Given the description of an element on the screen output the (x, y) to click on. 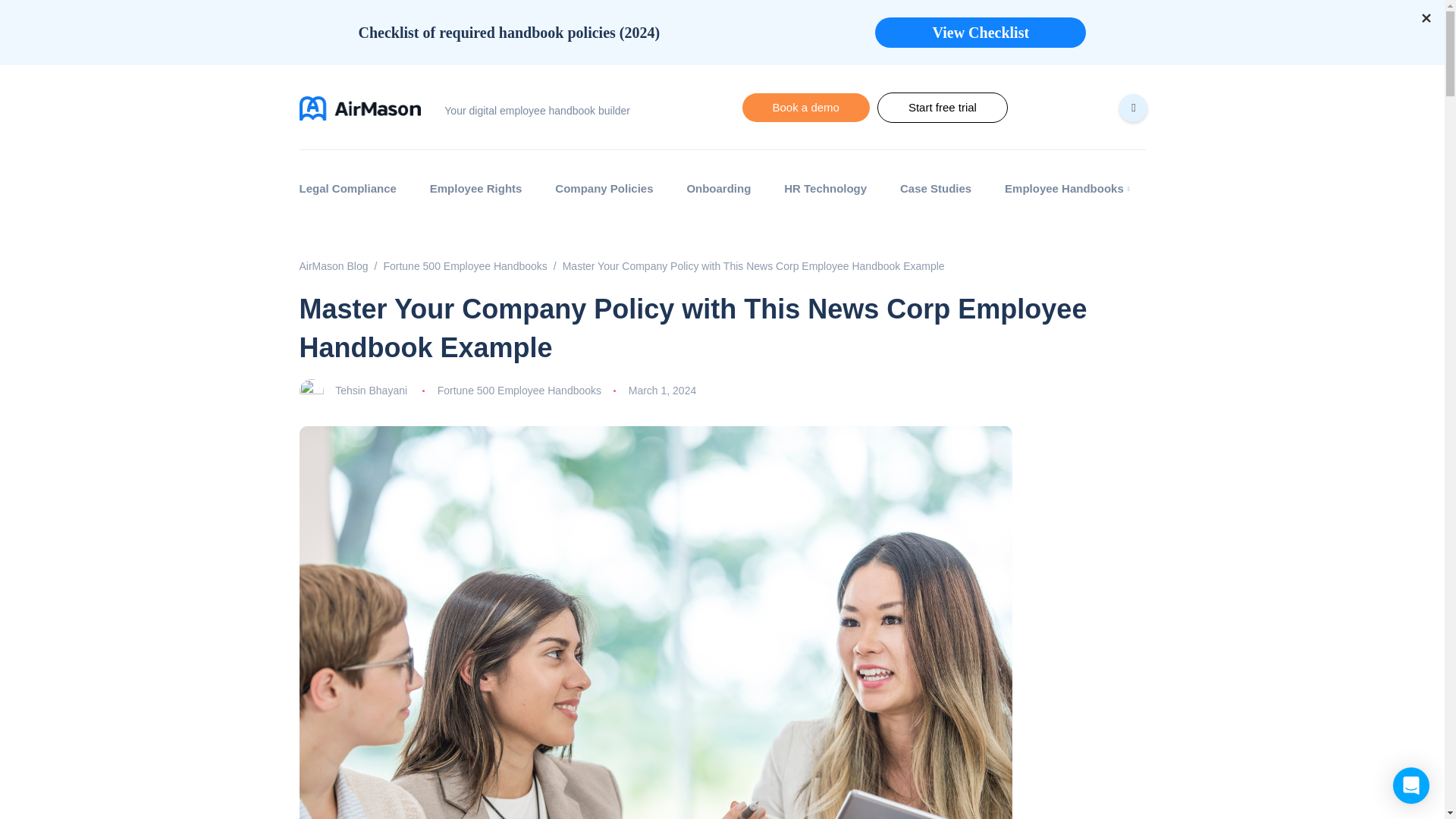
Posts by Tehsin Bhayani (370, 390)
Legal Compliance (355, 188)
HR Technology (825, 188)
Employee Rights (475, 188)
Company Policies (604, 188)
Employee Handbooks (1066, 188)
Close (1426, 14)
Onboarding (719, 188)
Go to AirMason Blog. (333, 265)
Book a demo (805, 107)
Case Studies (935, 188)
Start free trial (942, 107)
Go to the Fortune 500 Employee Handbooks Category archives. (464, 265)
